Given the description of an element on the screen output the (x, y) to click on. 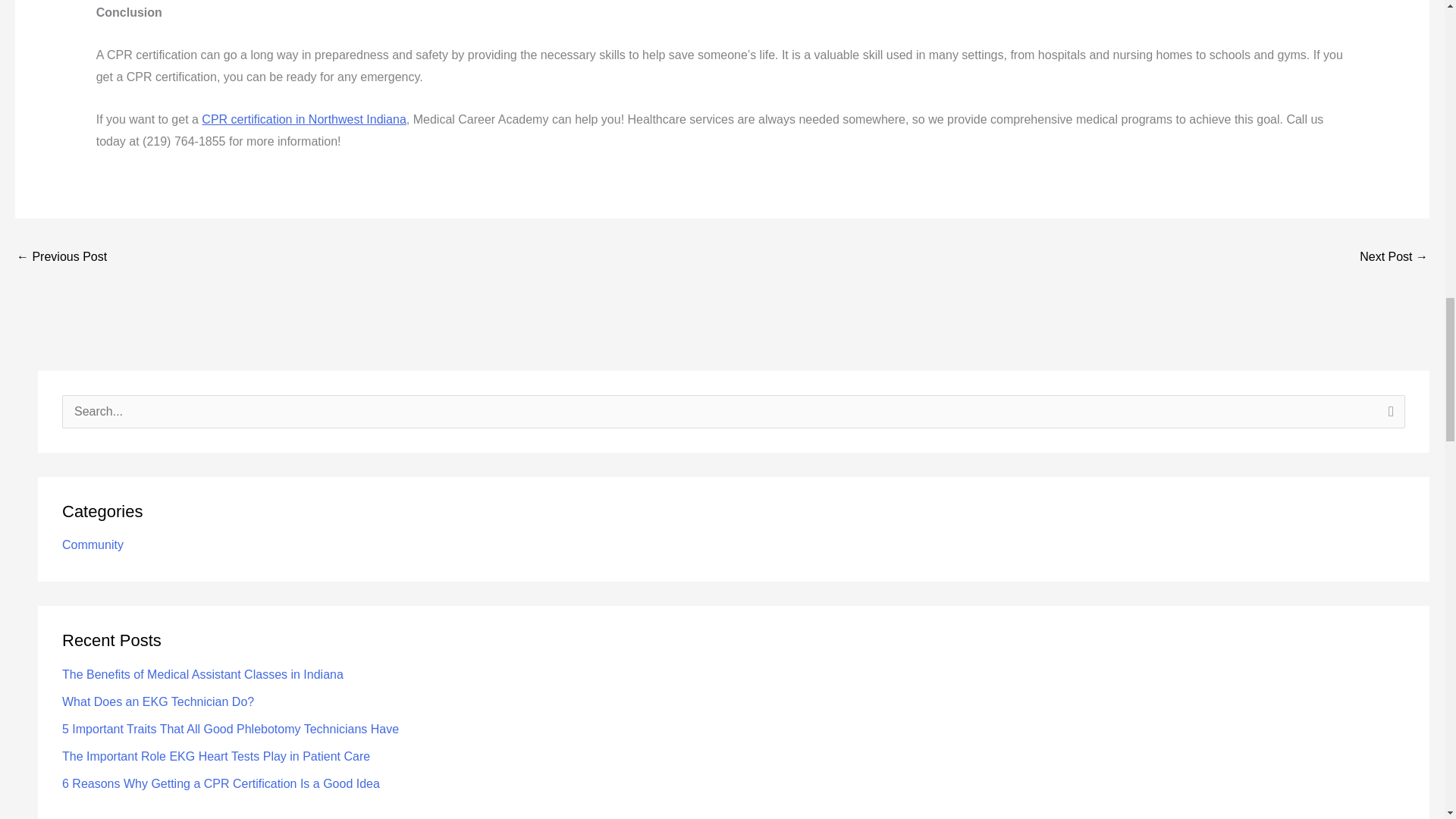
CPR certification in Northwest Indiana (304, 119)
The Career of an Echo Technician in Today's Healthcare (61, 257)
The Important Role EKG Heart Tests Play in Patient Care (1393, 257)
Community (92, 544)
